Given the description of an element on the screen output the (x, y) to click on. 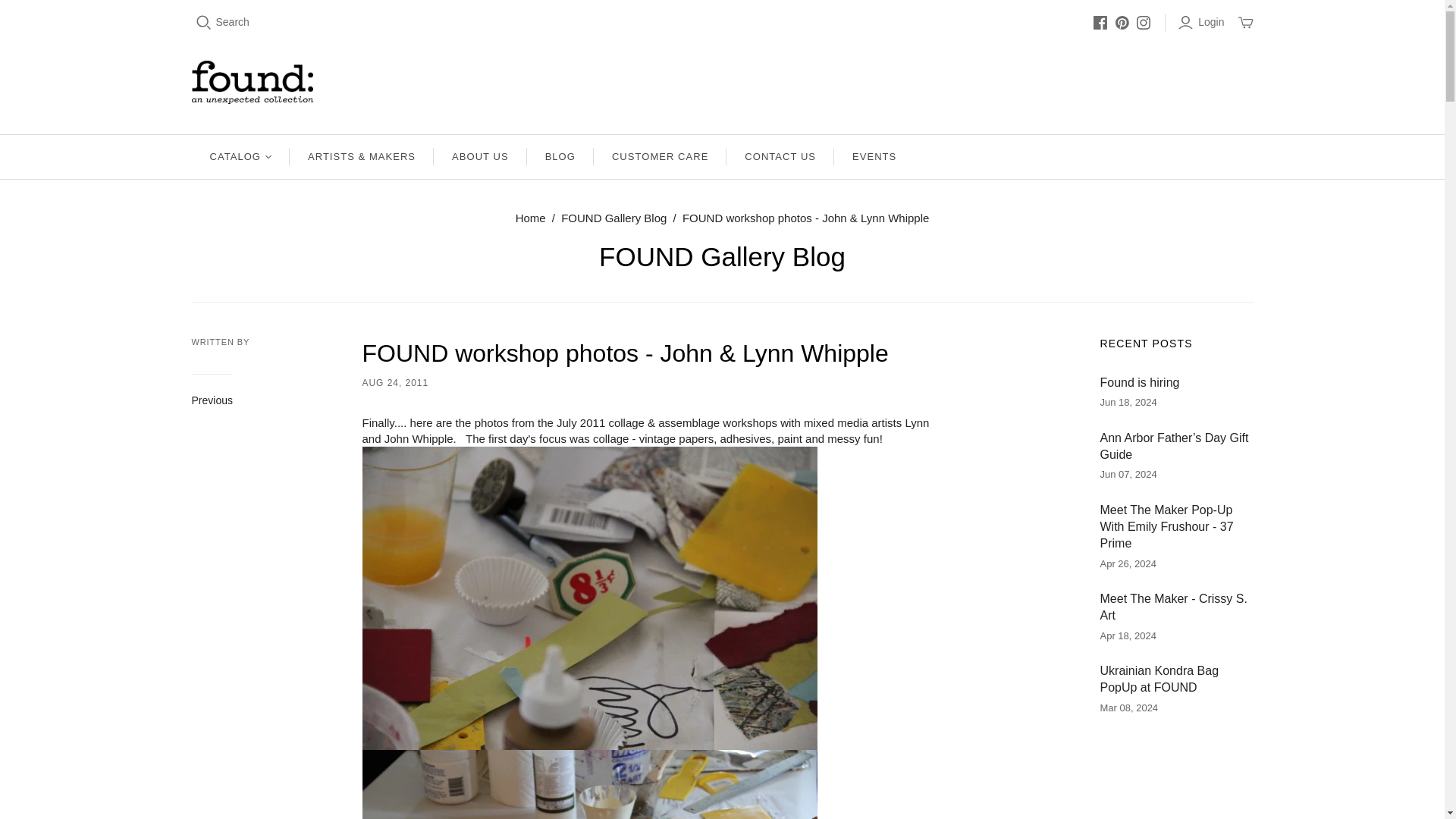
BLOG (560, 157)
EVENTS (874, 157)
CUSTOMER CARE (660, 157)
CATALOG (239, 157)
Login (1202, 22)
ABOUT US (480, 157)
CONTACT US (780, 157)
